Given the description of an element on the screen output the (x, y) to click on. 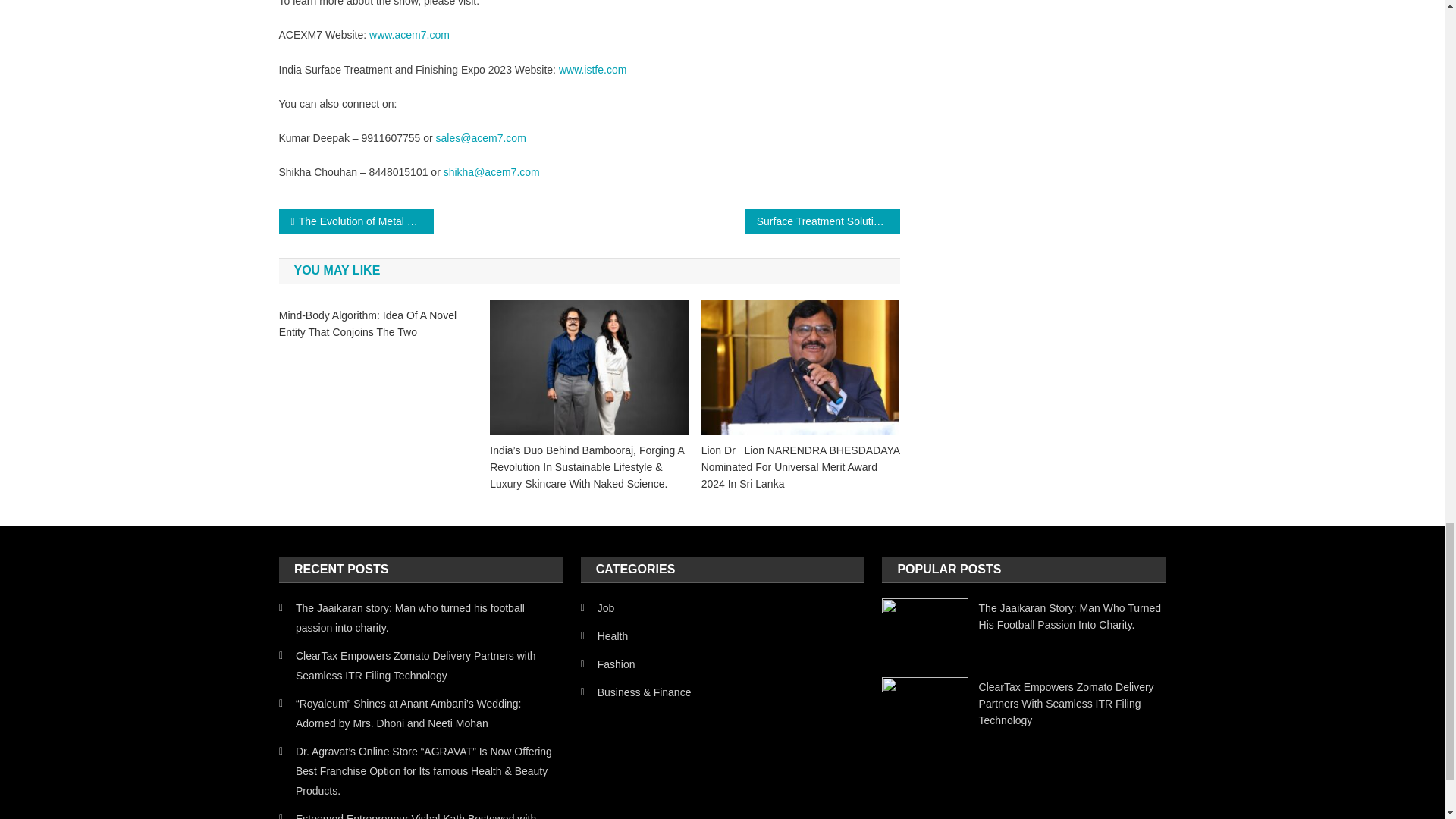
www.istfe.com (592, 69)
www.acem7.com (409, 34)
